Given the description of an element on the screen output the (x, y) to click on. 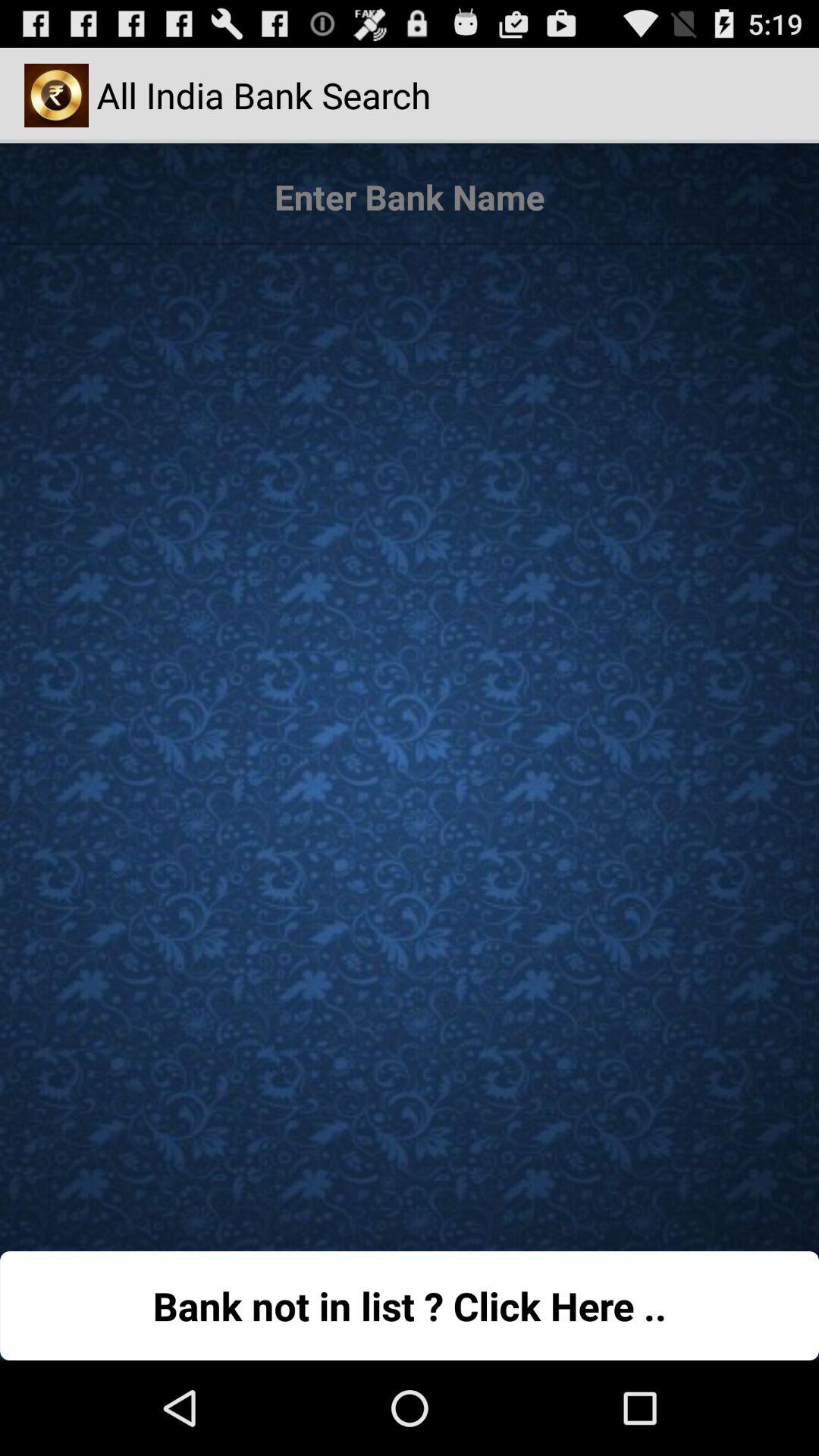
input bank name (409, 197)
